Given the description of an element on the screen output the (x, y) to click on. 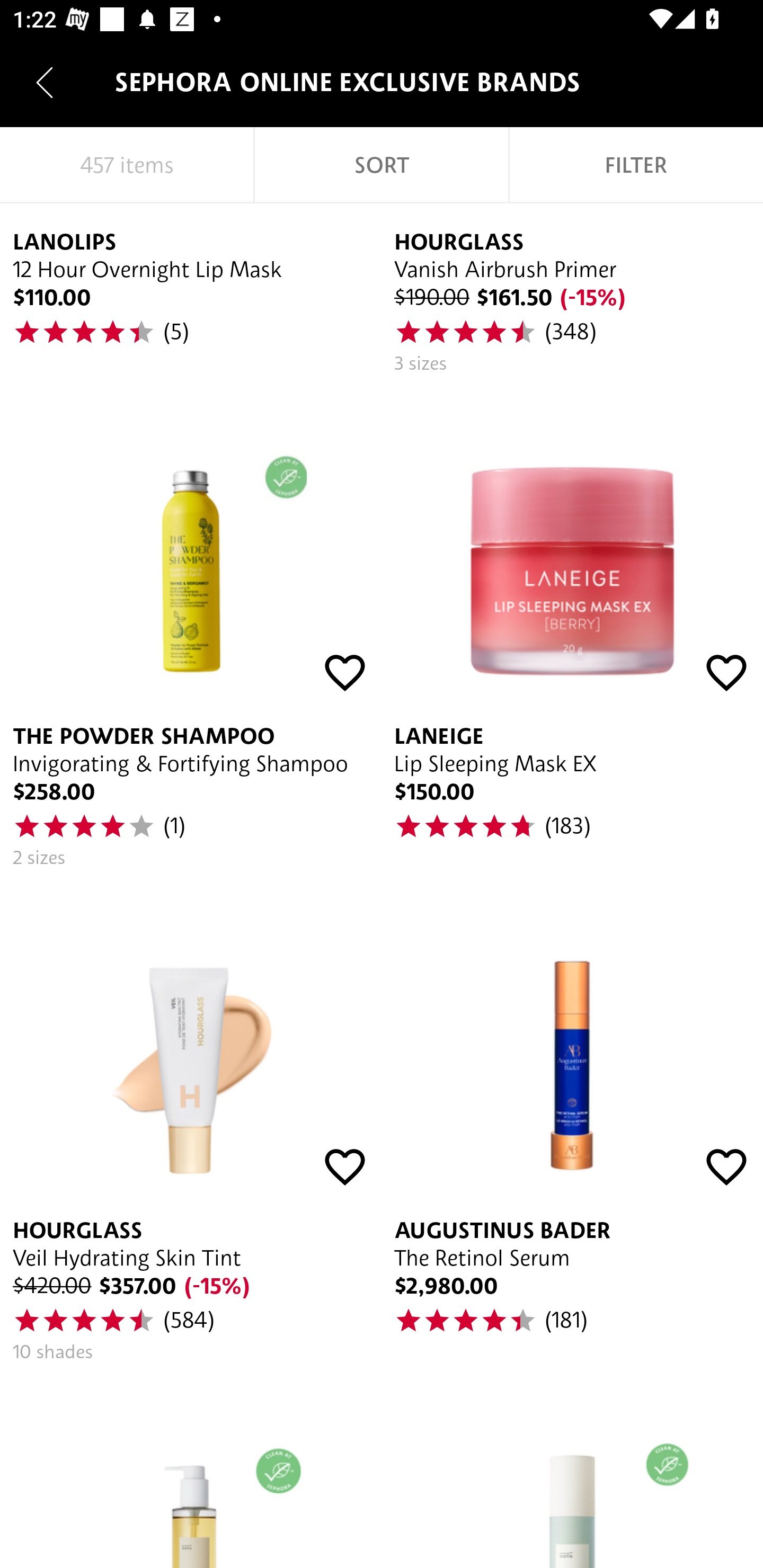
Navigate up (44, 82)
SORT (381, 165)
FILTER (636, 165)
LANEIGE Lip Sleeping Mask EX $150.00 47.0 (183) (572, 634)
